Given the description of an element on the screen output the (x, y) to click on. 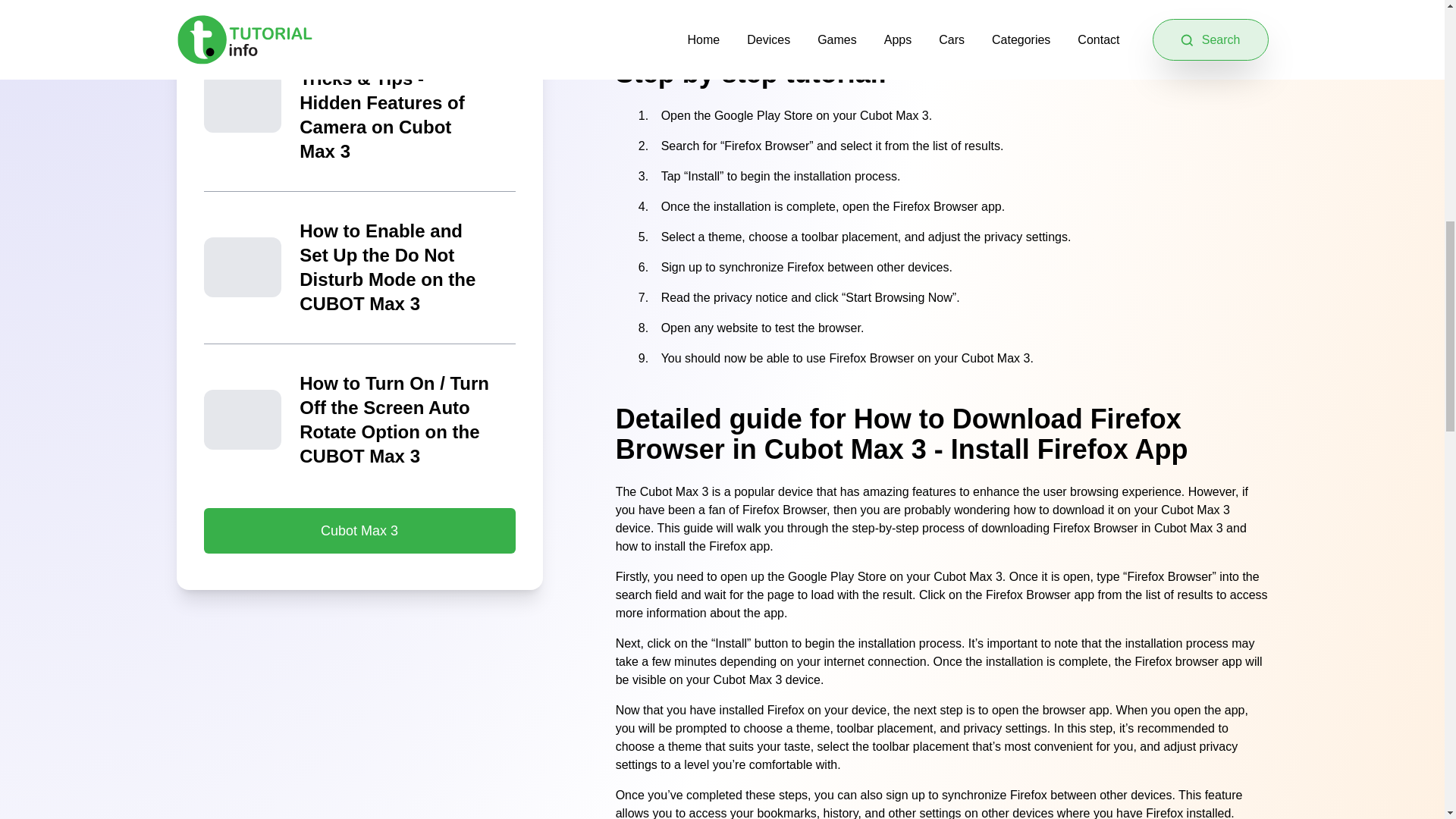
YouTube video player (941, 11)
